Given the description of an element on the screen output the (x, y) to click on. 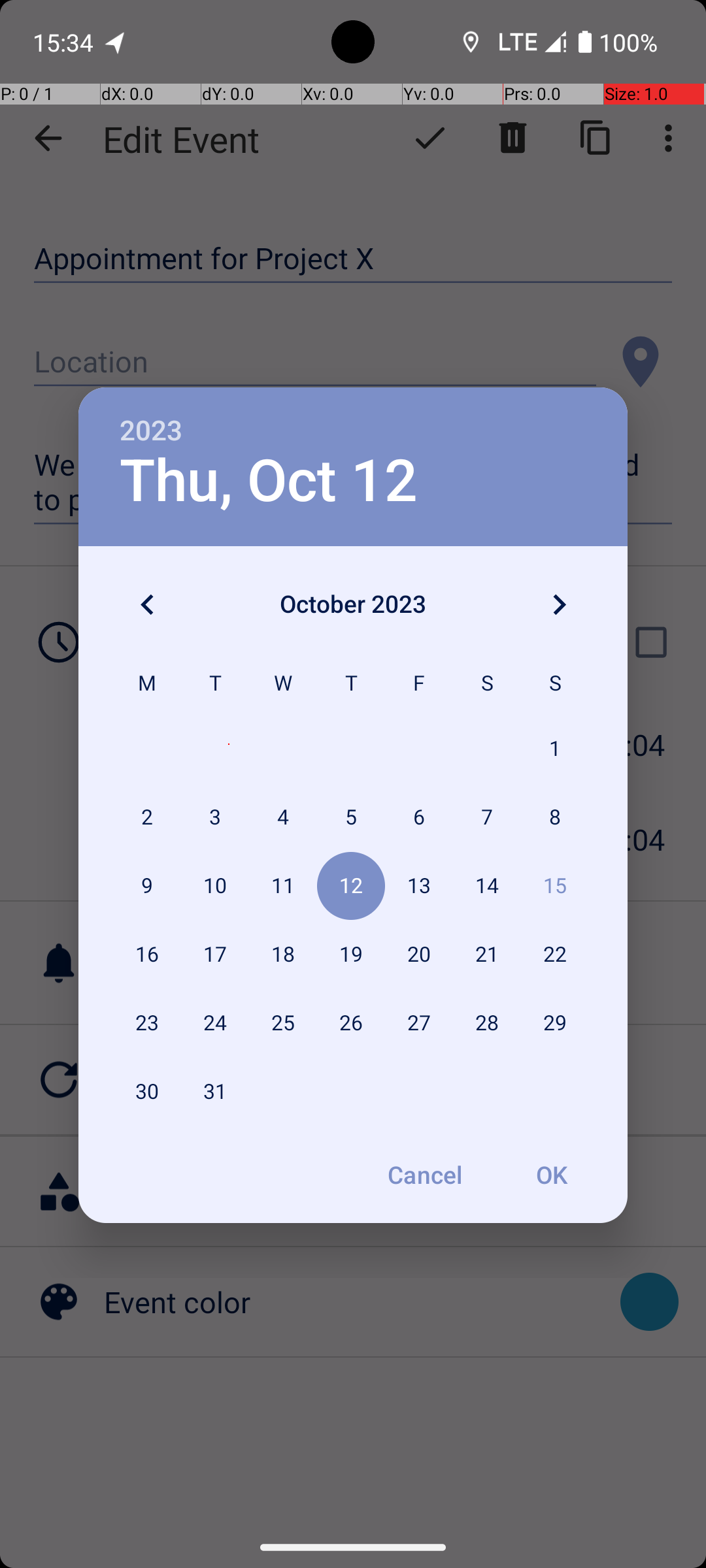
Thu, Oct 12 Element type: android.widget.TextView (268, 480)
